Given the description of an element on the screen output the (x, y) to click on. 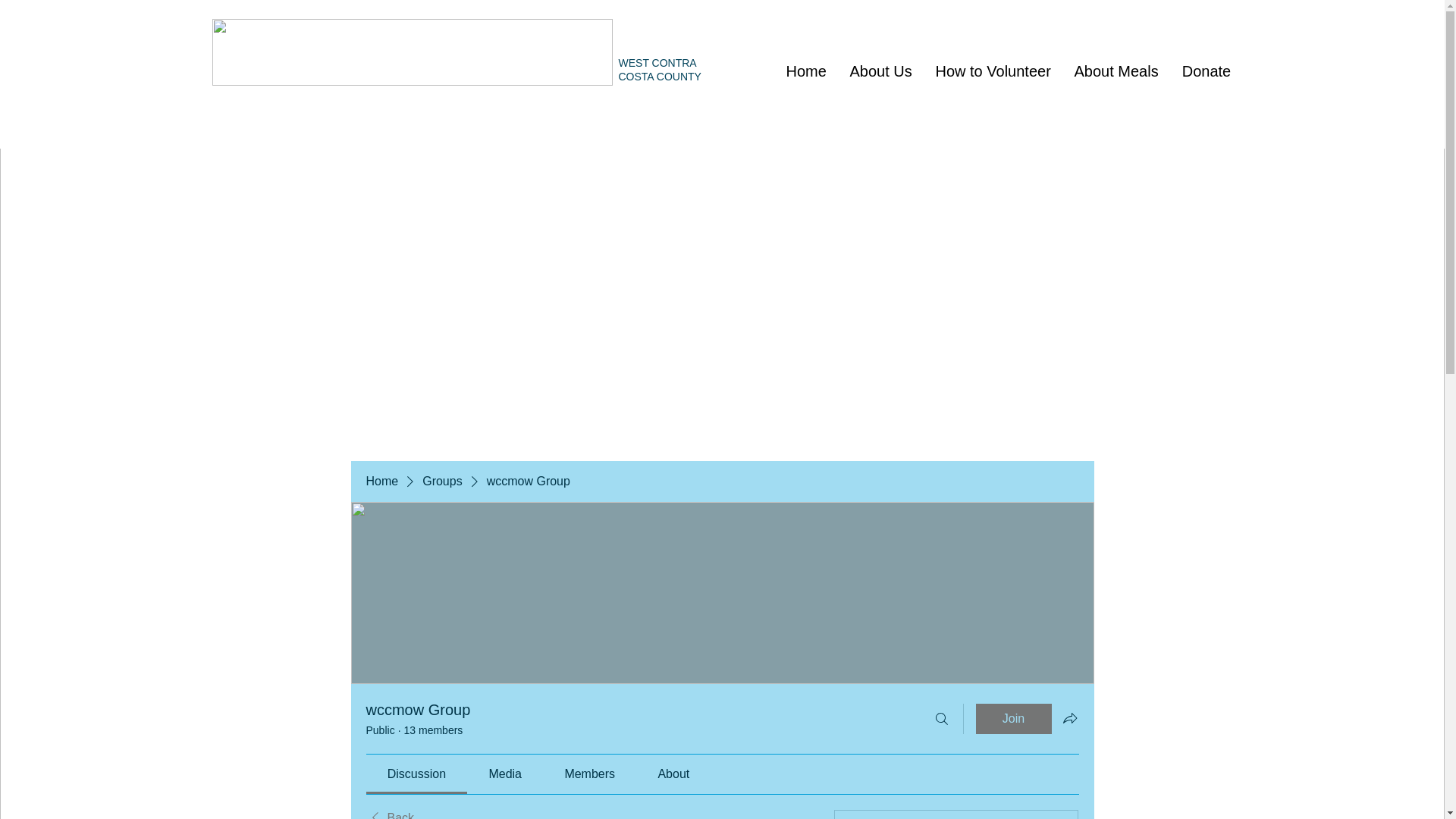
Back (389, 814)
How to Volunteer (992, 70)
Donate (1205, 70)
Join (1013, 718)
Groups (441, 481)
Meals on Wheels West Contra Costa Region (412, 51)
About Us (880, 70)
Home (381, 481)
About Meals (1115, 70)
Home (805, 70)
